Given the description of an element on the screen output the (x, y) to click on. 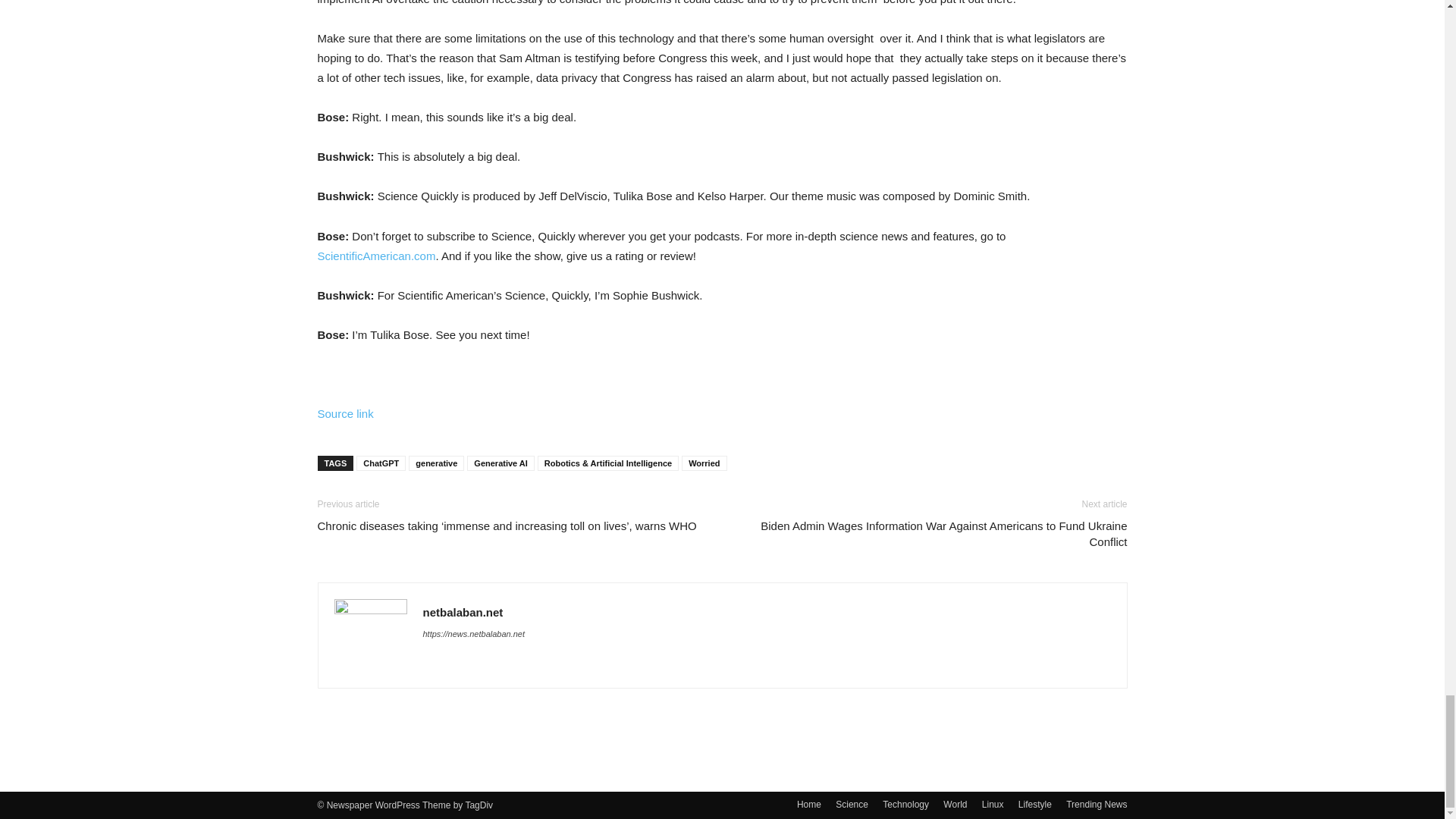
Source link (344, 413)
ChatGPT (381, 462)
Generative AI (500, 462)
ScientificAmerican.com (376, 255)
Home (808, 804)
netbalaban.net (463, 612)
Worried (703, 462)
generative (436, 462)
